Given the description of an element on the screen output the (x, y) to click on. 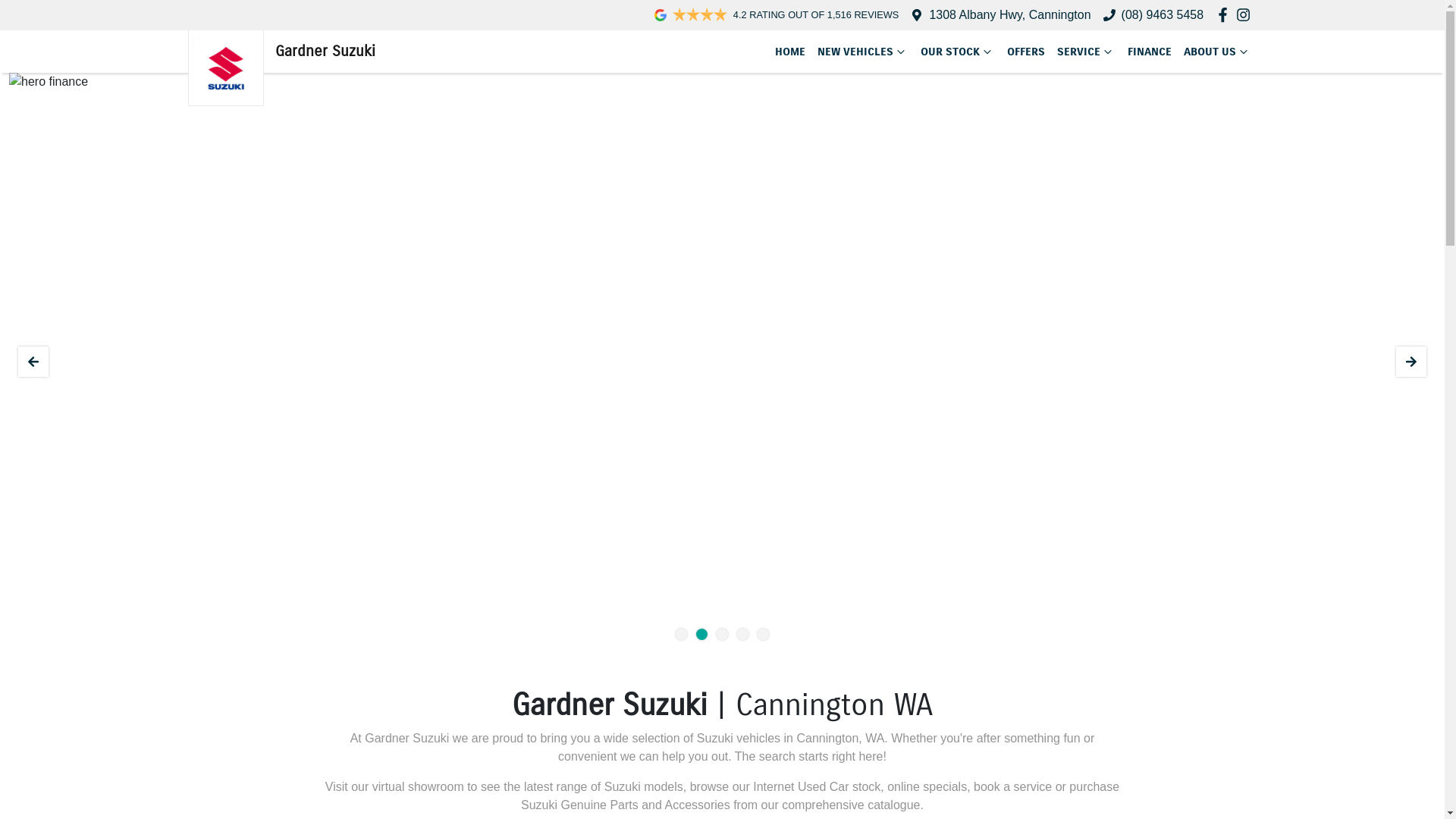
SERVICE Element type: text (1086, 51)
NEW VEHICLES Element type: text (862, 51)
1308 Albany Hwy, Cannington Element type: text (1009, 14)
FINANCE Element type: text (1148, 51)
Gardner Suzuki Element type: text (281, 51)
OFFERS Element type: text (1026, 51)
HOME Element type: text (789, 51)
(08) 9463 5458 Element type: text (1162, 14)
ABOUT US Element type: text (1216, 51)
OUR STOCK Element type: text (957, 51)
